Given the description of an element on the screen output the (x, y) to click on. 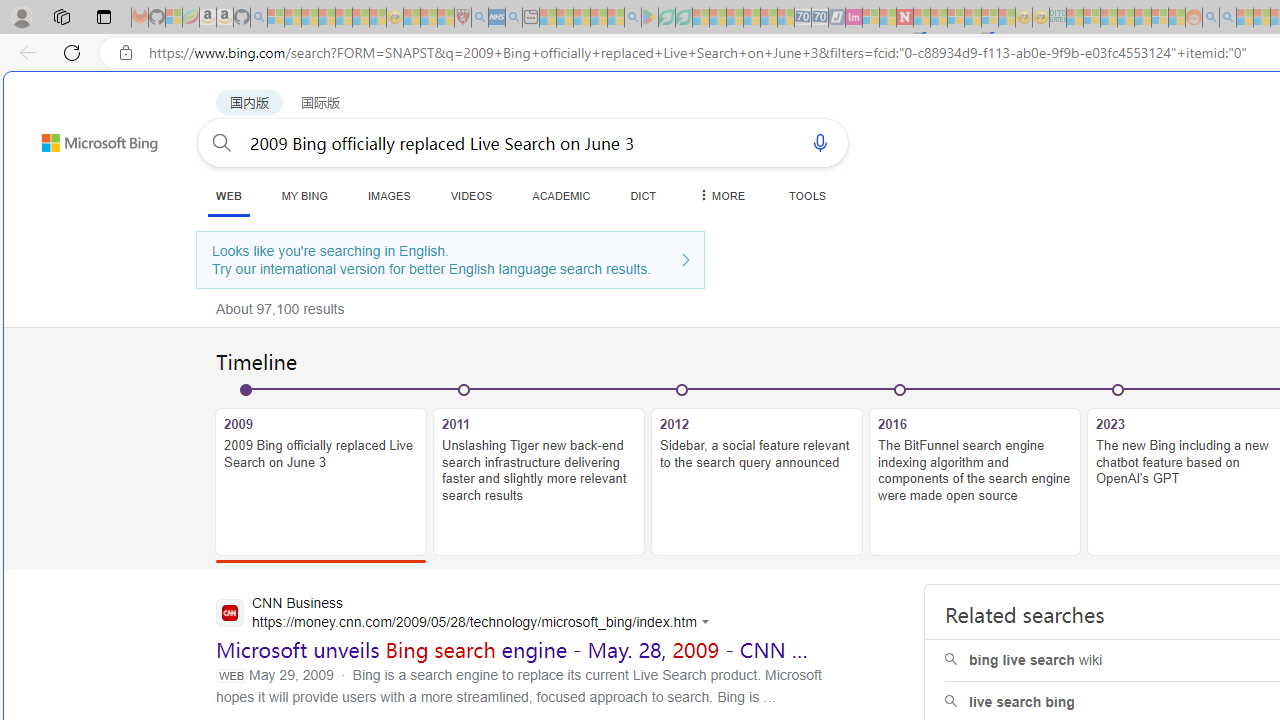
MSNBC - MSN - Sleeping (1074, 17)
Expert Portfolios - Sleeping (1125, 17)
Search using voice (820, 142)
2009 2009 Bing officially replaced Live Search on June 3 (321, 481)
